Given the description of an element on the screen output the (x, y) to click on. 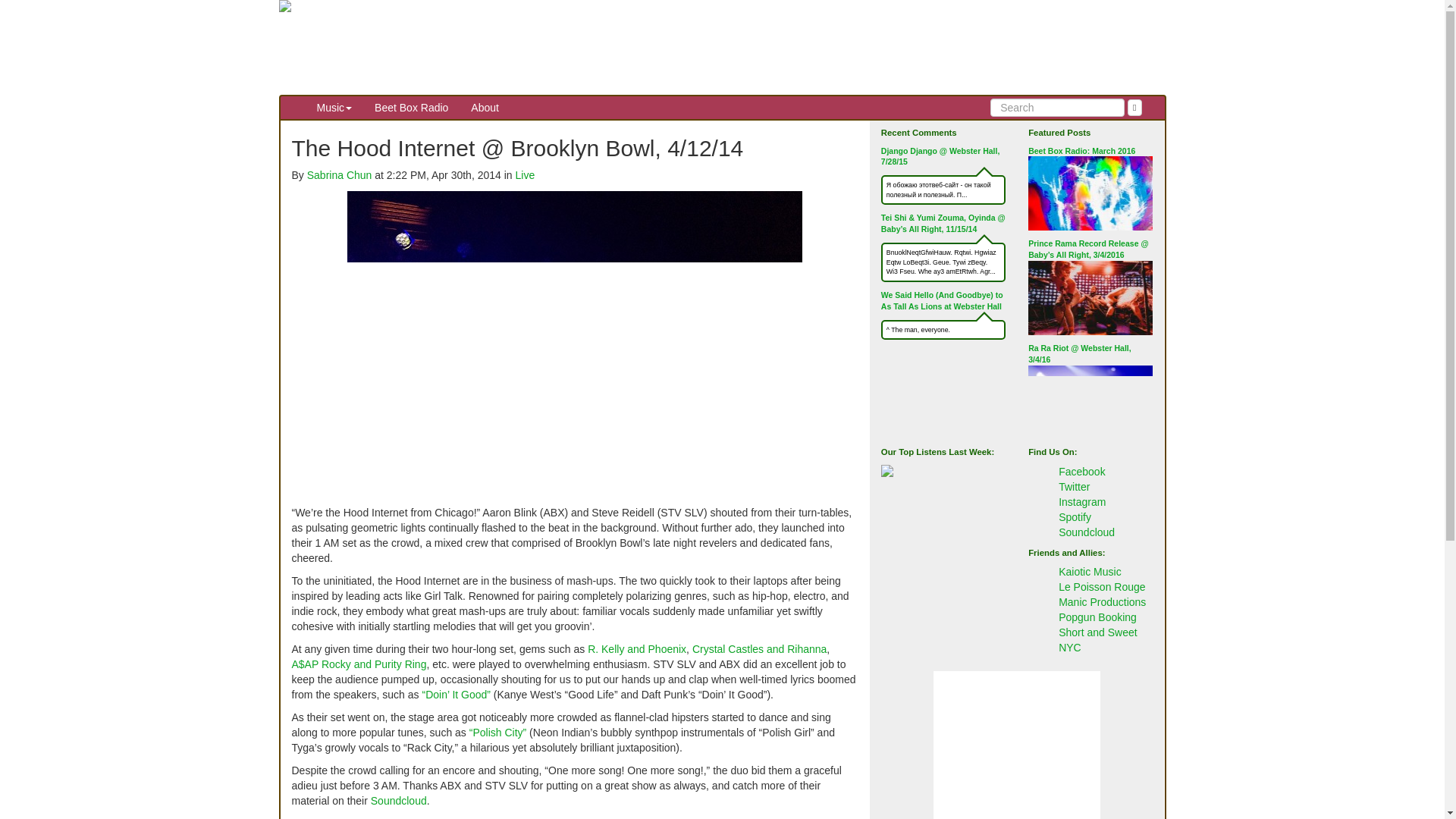
Beet Box Radio: March 2016 (1081, 149)
About (485, 107)
Crystal Castles and Rihanna (760, 648)
Beet Box Radio (411, 107)
Posts by Sabrina Chun (339, 174)
Sabrina Chun (339, 174)
R. Kelly and Phoenix (636, 648)
Music (333, 107)
Live (524, 174)
Soundcloud (398, 800)
